Given the description of an element on the screen output the (x, y) to click on. 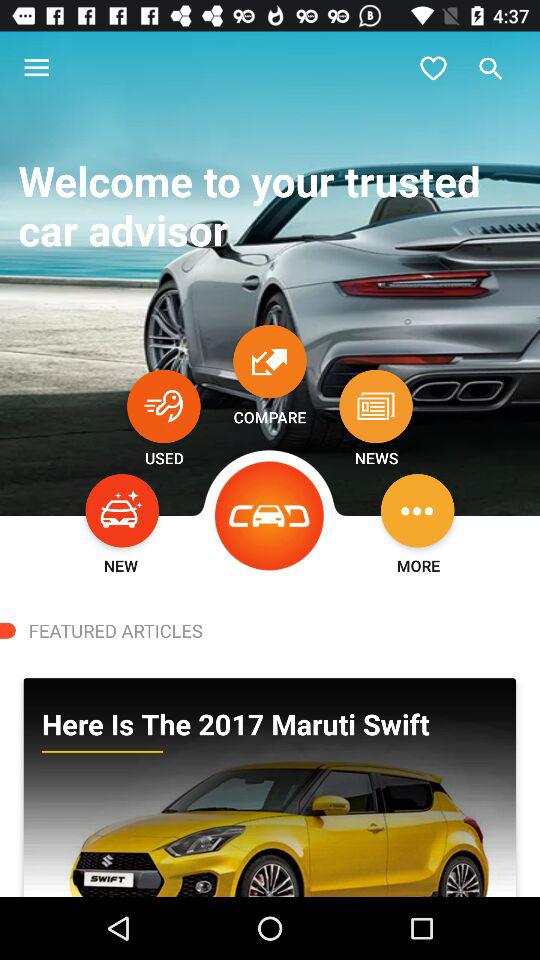
compare (269, 361)
